Given the description of an element on the screen output the (x, y) to click on. 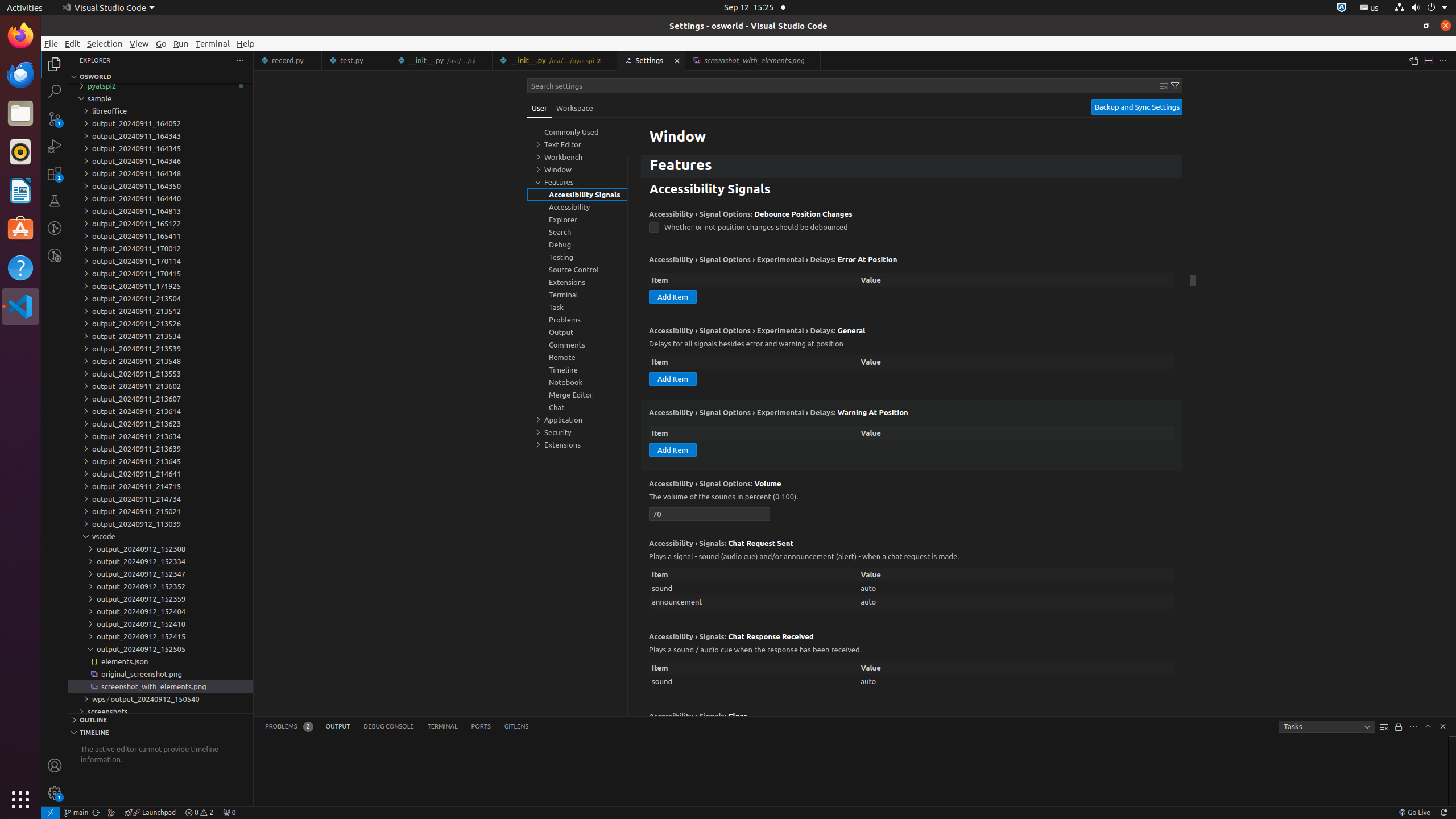
Filter Settings Element type: push-button (1174, 85)
output_20240911_213512 Element type: tree-item (160, 310)
Features, group Element type: tree-item (577, 181)
Selection Element type: push-button (104, 43)
